Given the description of an element on the screen output the (x, y) to click on. 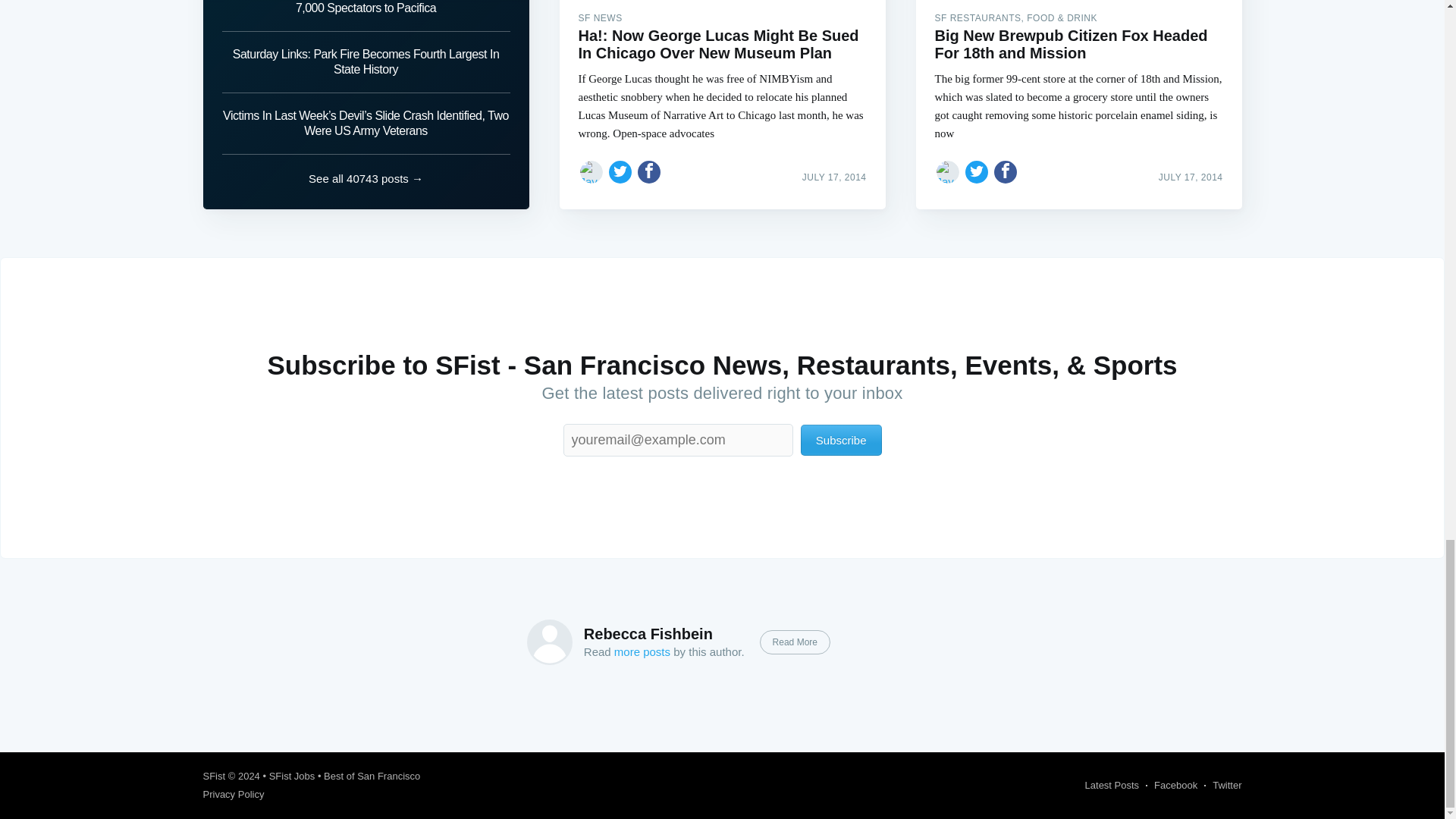
Share on Twitter (976, 171)
Share on Twitter (620, 171)
Share on Facebook (1004, 171)
Share on Facebook (649, 171)
